Given the description of an element on the screen output the (x, y) to click on. 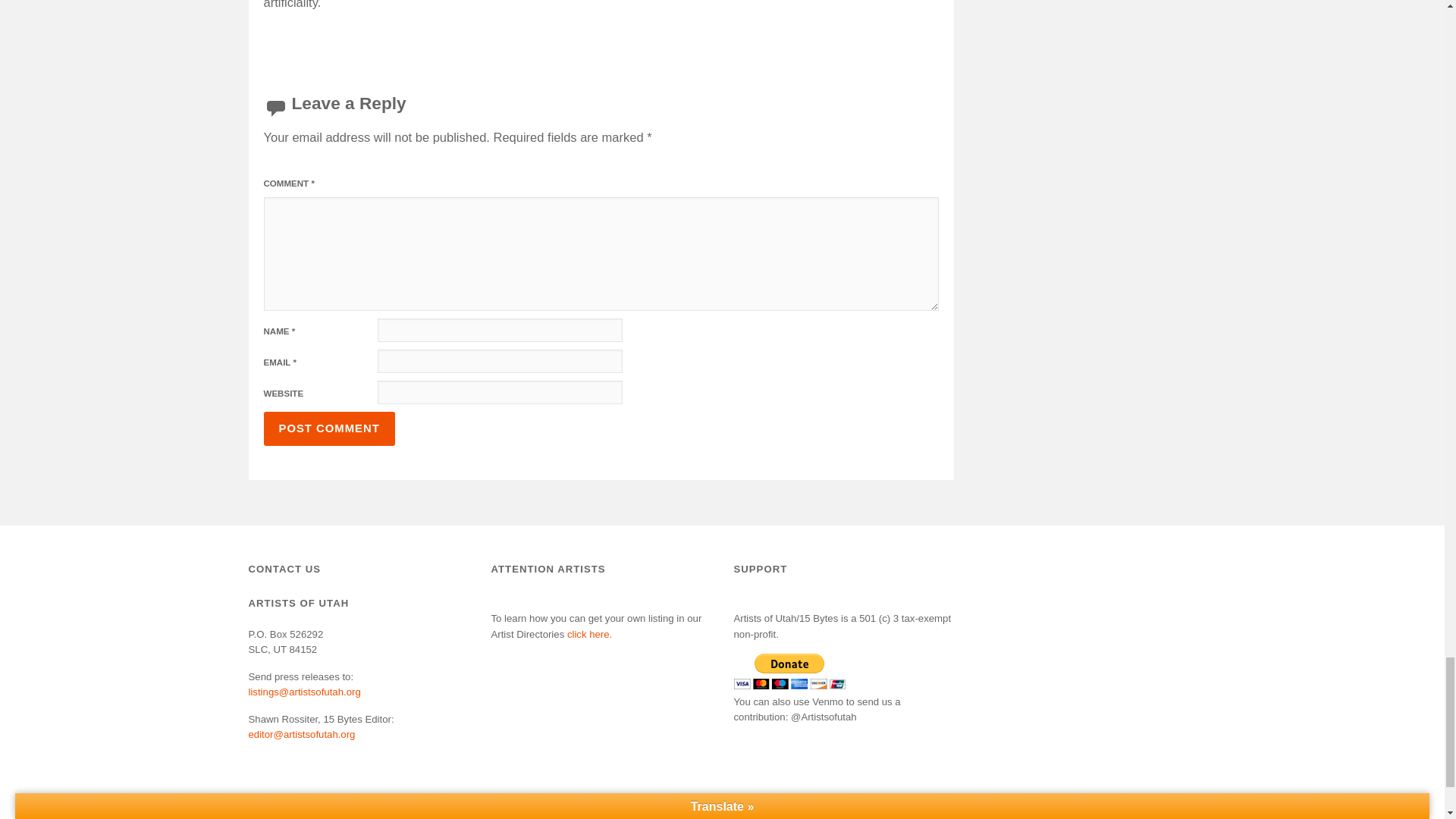
Post Comment (328, 428)
